Given the description of an element on the screen output the (x, y) to click on. 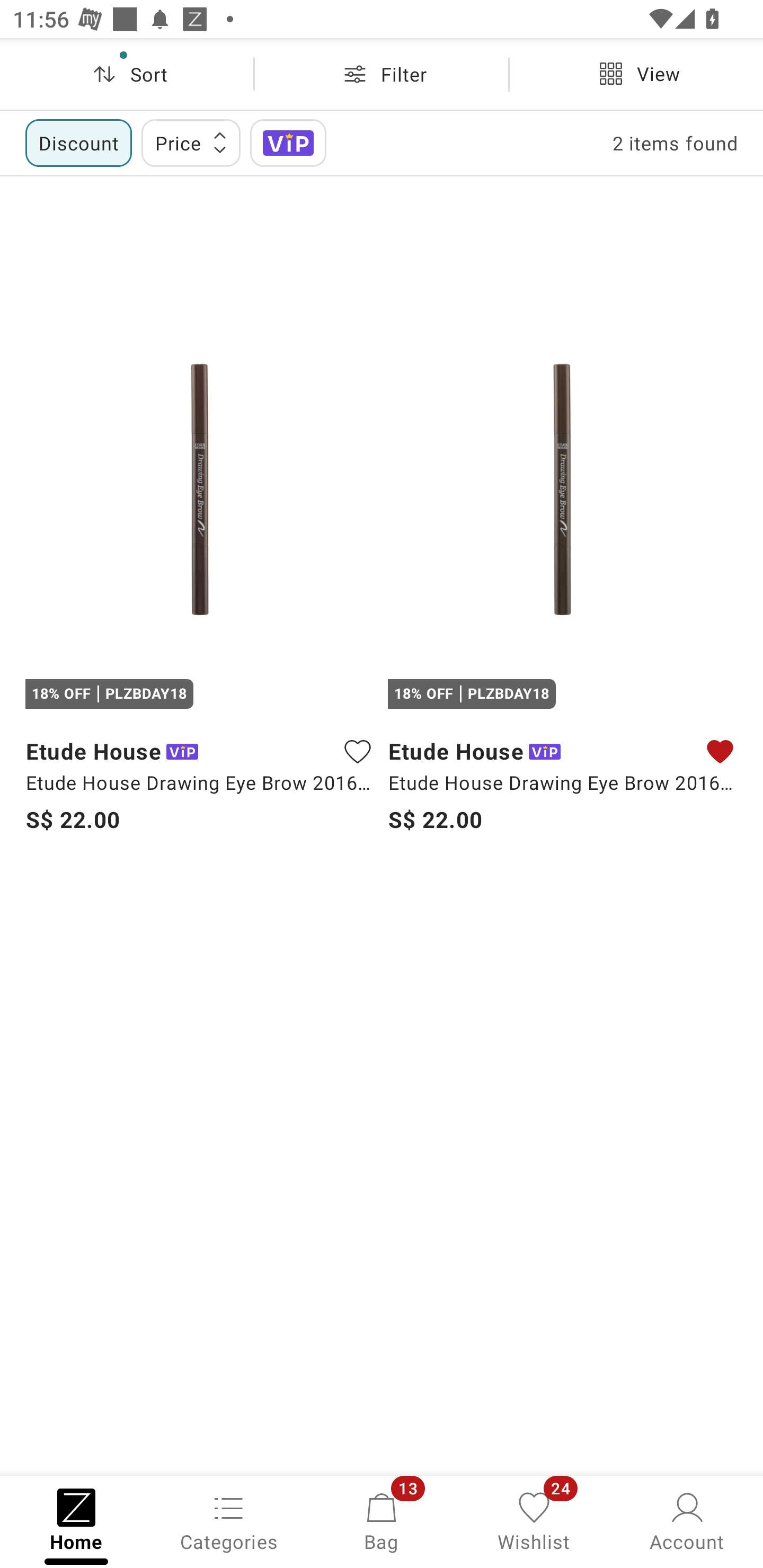
Sort (126, 73)
Filter (381, 73)
View (636, 73)
Discount (78, 142)
Price (190, 142)
Categories (228, 1519)
Bag, 13 new notifications Bag (381, 1519)
Wishlist, 24 new notifications Wishlist (533, 1519)
Account (686, 1519)
